Given the description of an element on the screen output the (x, y) to click on. 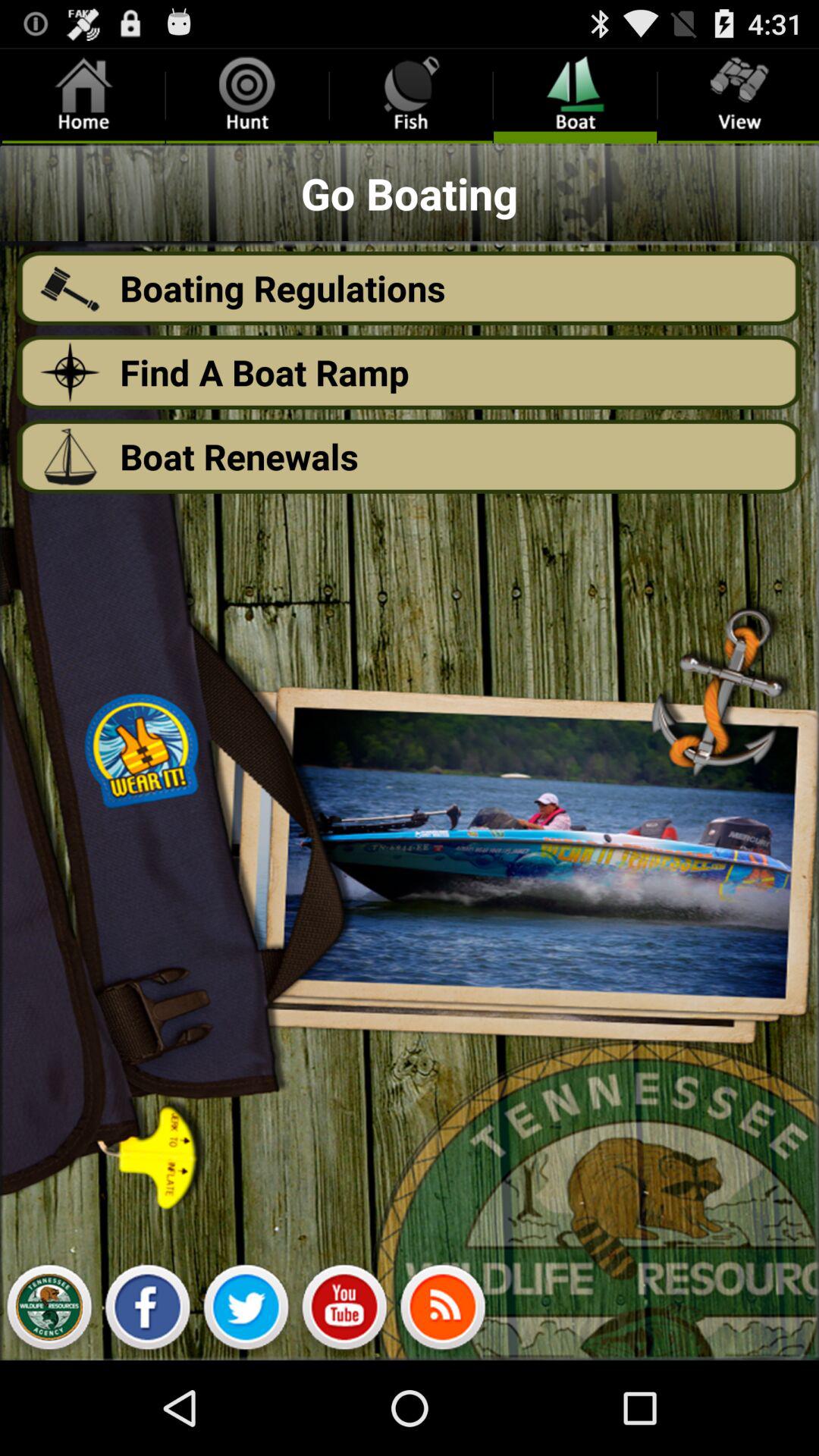
go to twitter (245, 1311)
